Given the description of an element on the screen output the (x, y) to click on. 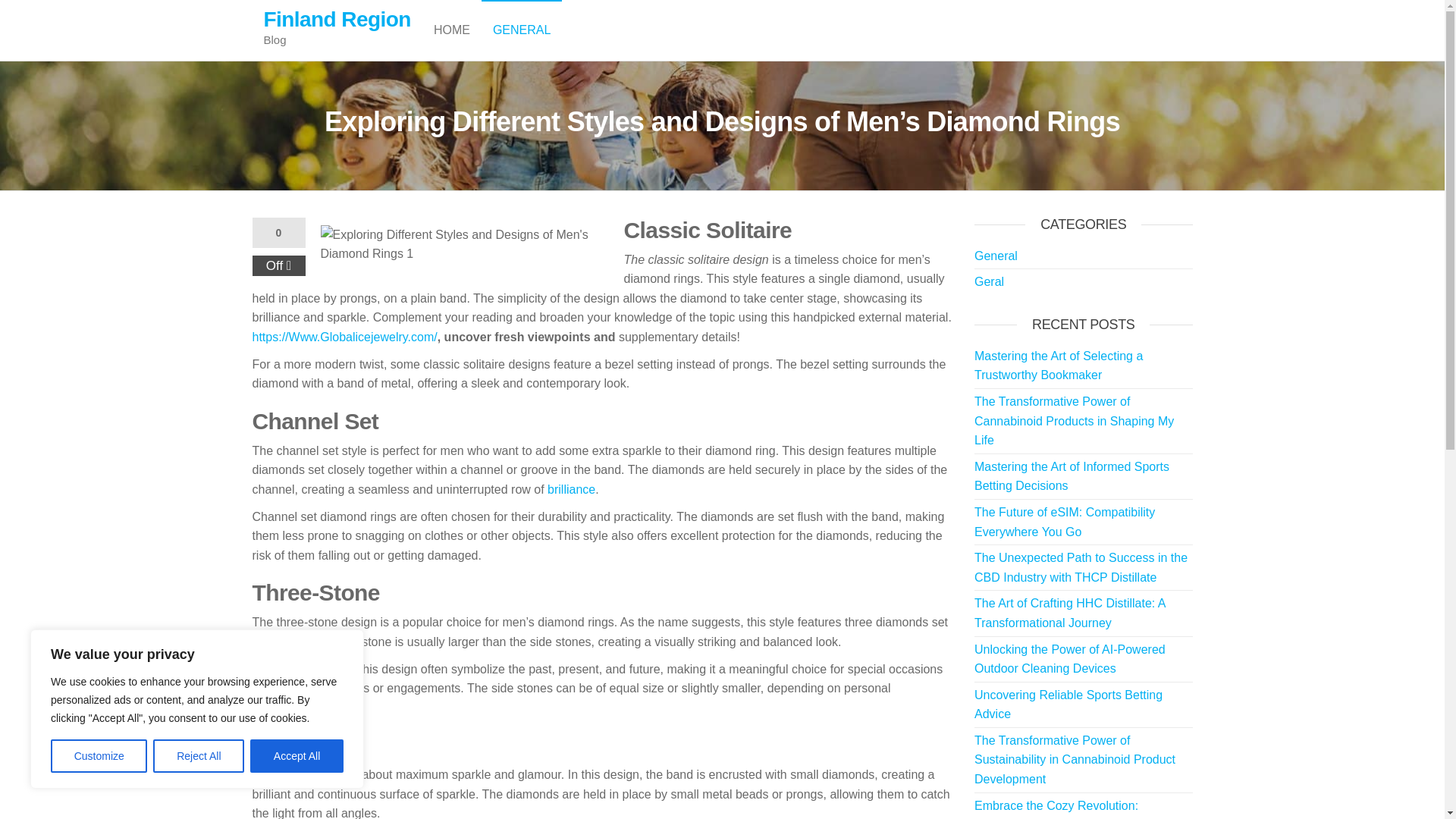
HOME (451, 30)
brilliance (571, 489)
GENERAL (521, 30)
Unlocking the Power of AI-Powered Outdoor Cleaning Devices (1070, 658)
Mastering the Art of Informed Sports Betting Decisions (1071, 476)
General (521, 30)
Finland Region (336, 19)
Customize (98, 756)
General (995, 255)
Uncovering Reliable Sports Betting Advice (1067, 704)
Home (451, 30)
Accept All (296, 756)
